Given the description of an element on the screen output the (x, y) to click on. 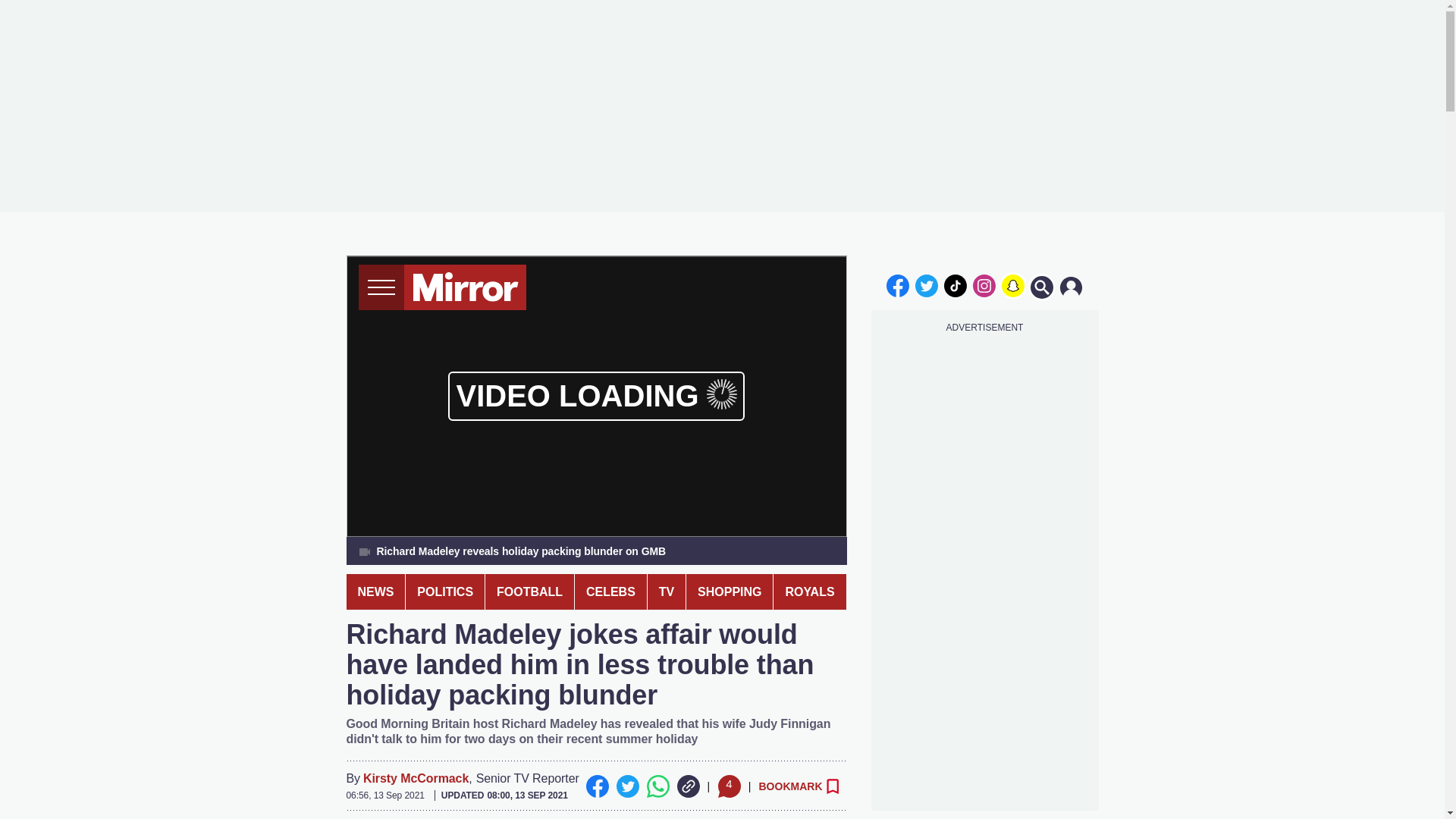
POLITICS (445, 591)
snapchat (1012, 285)
Twitter (627, 785)
instagram (984, 285)
Facebook (596, 785)
tiktok (955, 285)
FOOTBALL (528, 591)
facebook (897, 285)
NEWS (375, 591)
twitter (926, 285)
